Given the description of an element on the screen output the (x, y) to click on. 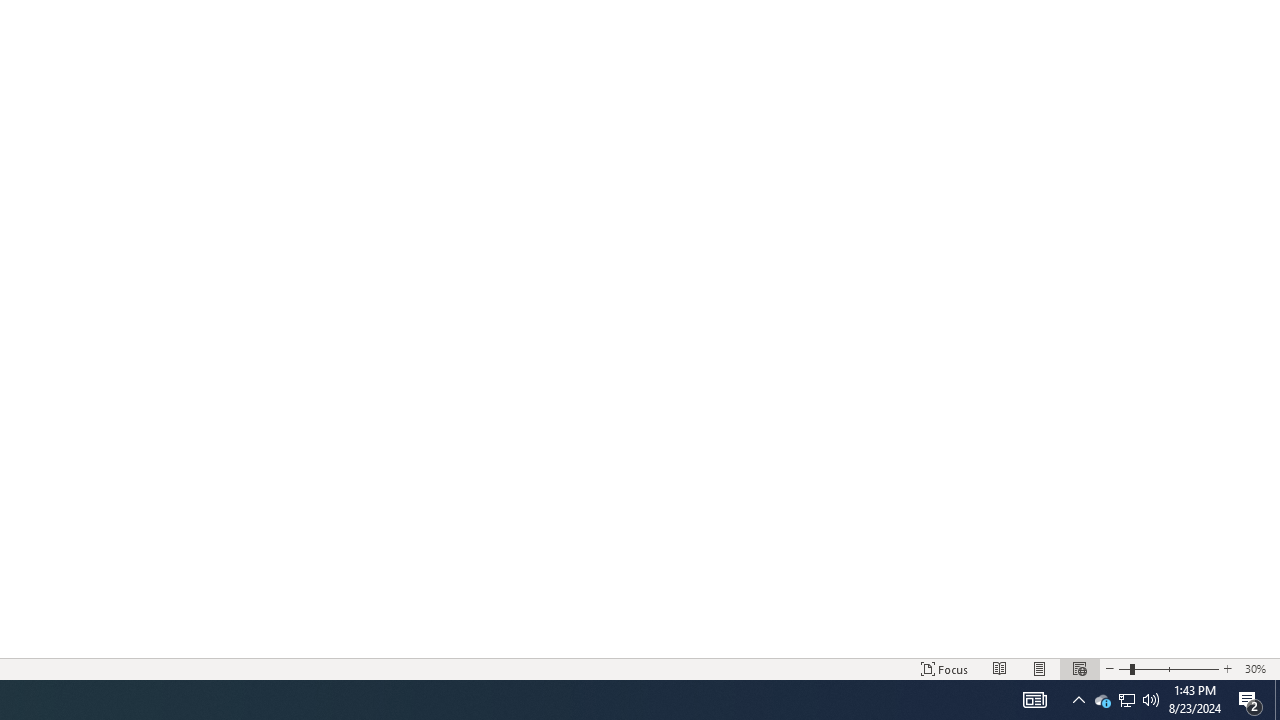
Zoom 30% (1258, 668)
